Given the description of an element on the screen output the (x, y) to click on. 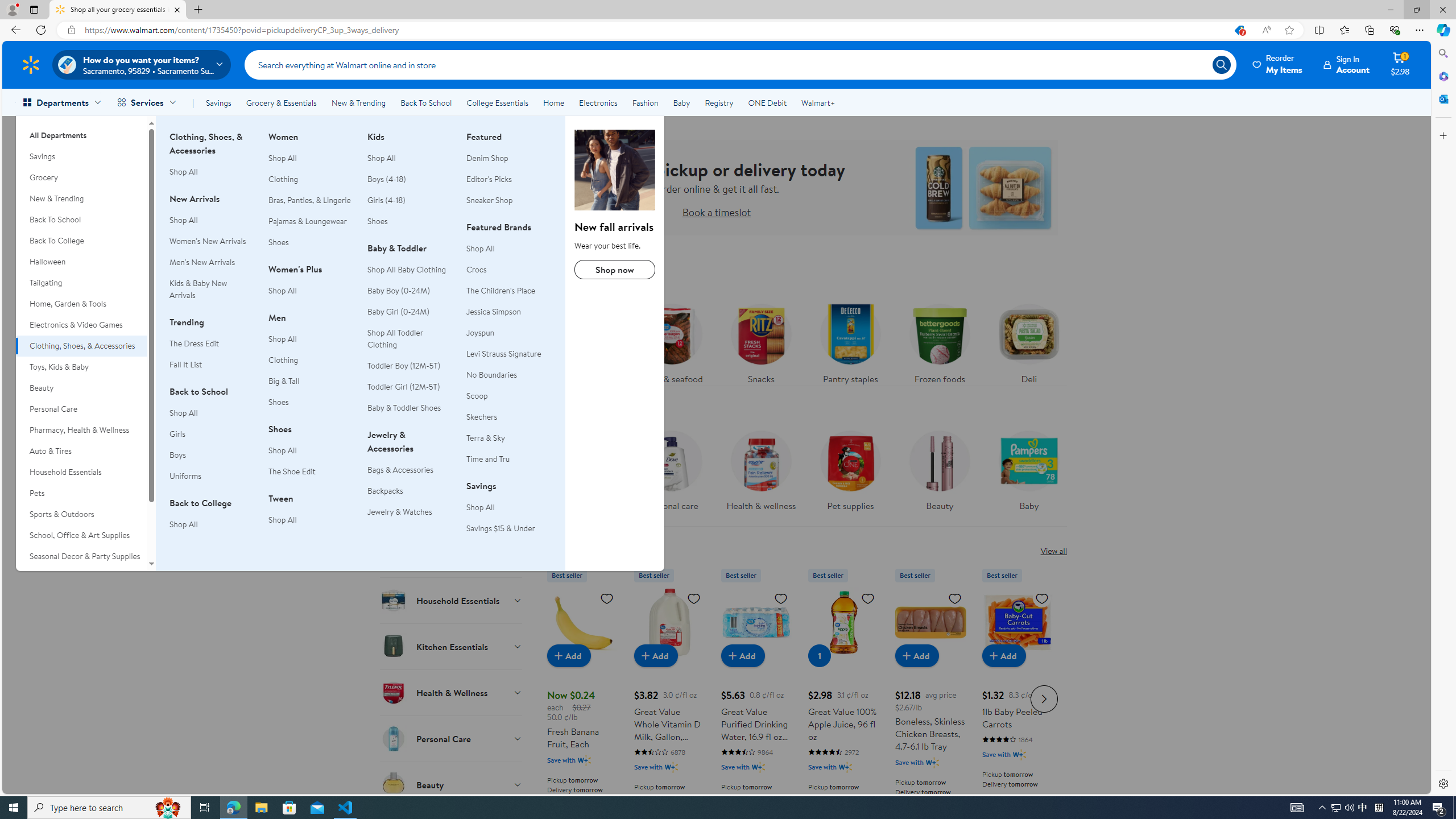
This site has coupons! Shopping in Microsoft Edge, 7 (1239, 29)
Fresh produce (582, 340)
KidsShop AllBoys (4-18)Girls (4-18)Shoes (409, 184)
The Shoe Edit (291, 471)
Personal care (671, 473)
Snacks (760, 340)
Terra & Sky (508, 437)
Pantry staples (850, 340)
Big & Tall (310, 381)
Health & wellness (760, 467)
Clothing, Shoes, & AccessoriesShop All (211, 160)
